Given the description of an element on the screen output the (x, y) to click on. 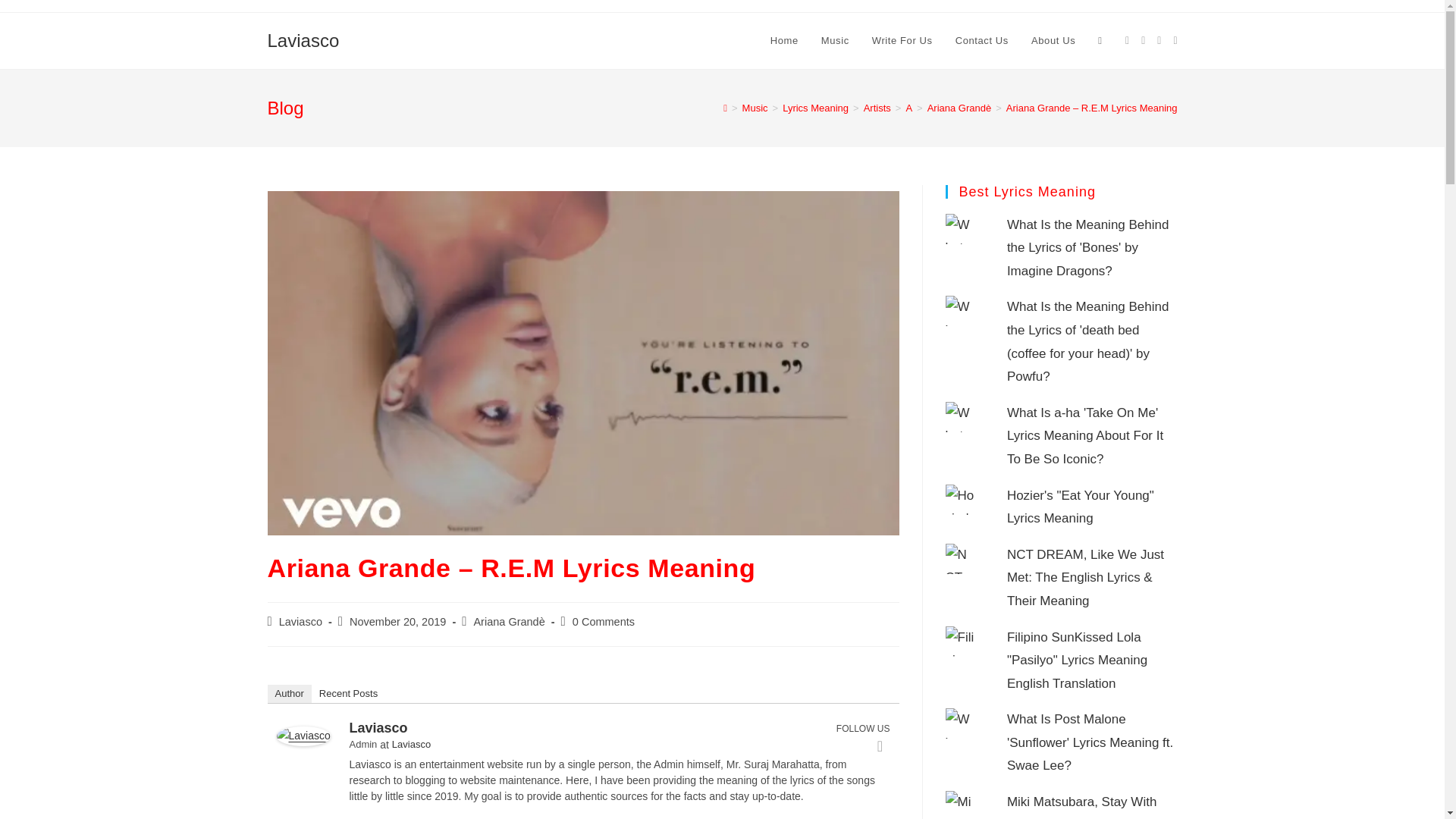
About Us (1053, 40)
Write For Us (901, 40)
0 Comments (603, 621)
Author (288, 693)
Music (834, 40)
Laviasco (303, 735)
Home (783, 40)
Artists (877, 107)
Twitter (879, 746)
Posts by Laviasco (300, 621)
Laviasco (302, 40)
Music (755, 107)
Contact Us (981, 40)
Lyrics Meaning (815, 107)
